Given the description of an element on the screen output the (x, y) to click on. 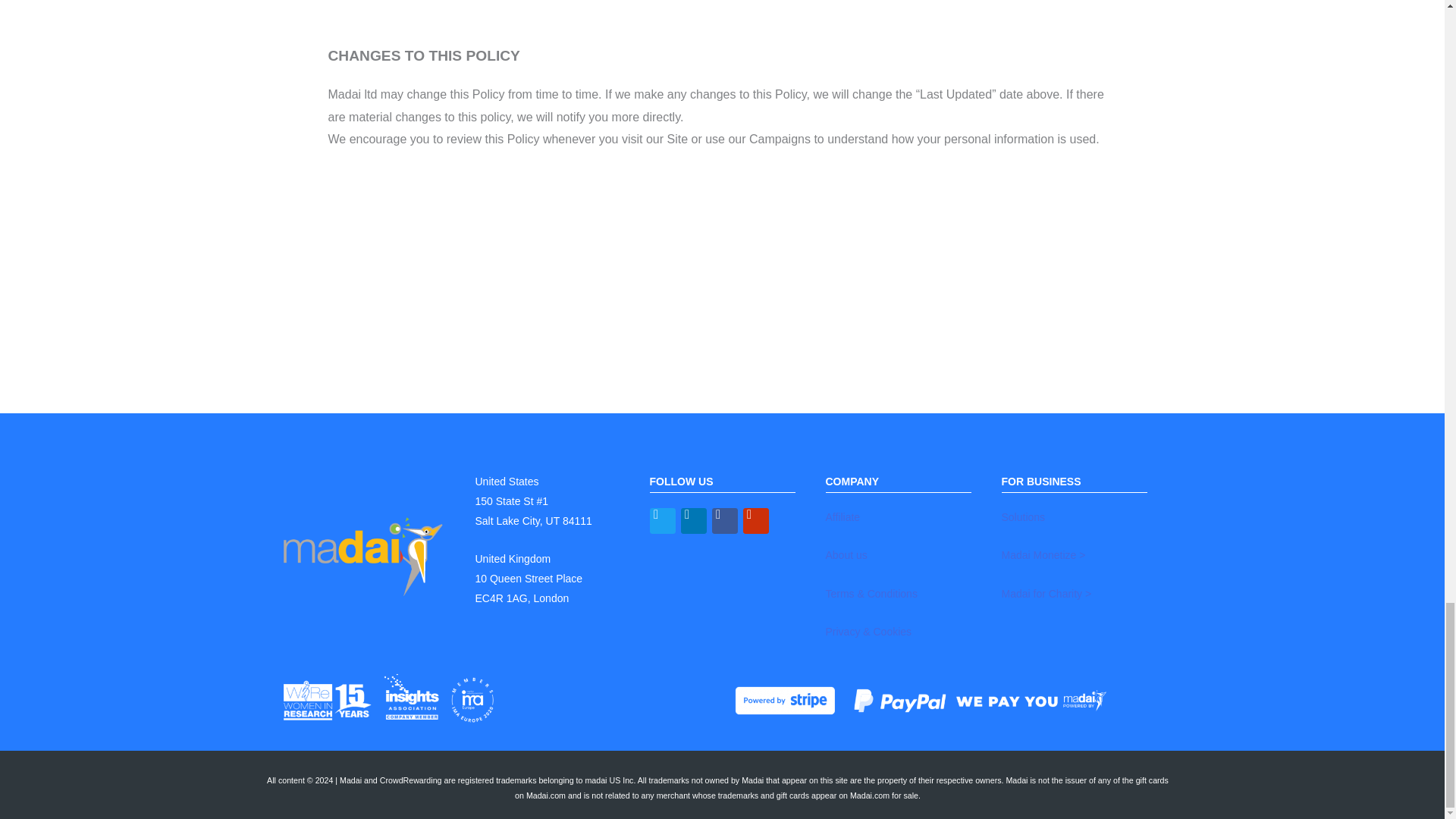
Affiliate (842, 517)
About us (845, 554)
Linkedin (693, 520)
Solutions (1023, 517)
Instagram (755, 520)
Facebook (723, 520)
Business Solutions (1023, 517)
Privacy Policy (868, 631)
Twitter (662, 520)
Affiliate (842, 517)
About us (845, 554)
